Given the description of an element on the screen output the (x, y) to click on. 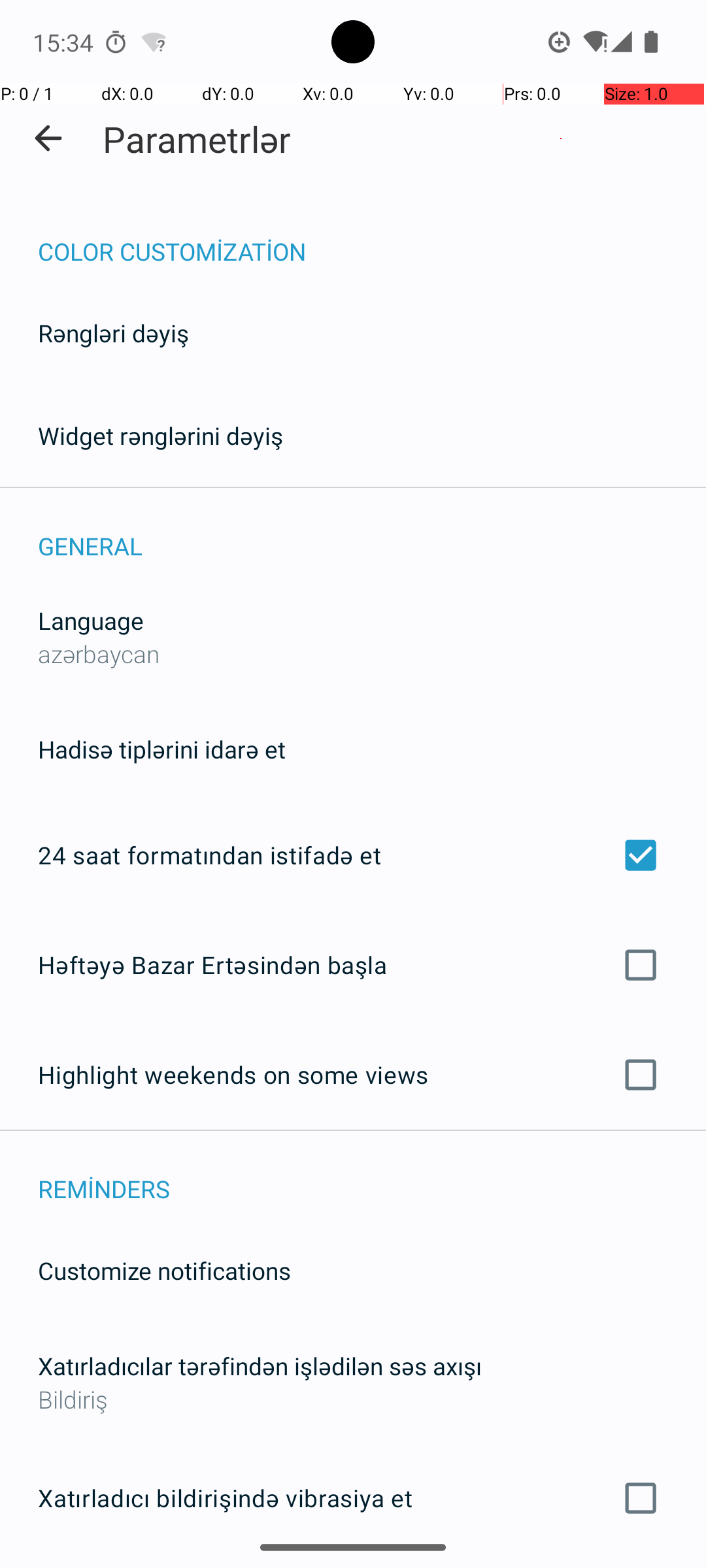
Parametrlər Element type: android.widget.TextView (196, 138)
COLOR CUSTOMİZATİON Element type: android.widget.TextView (371, 237)
REMİNDERS Element type: android.widget.TextView (371, 1174)
Rəngləri dəyiş Element type: android.widget.TextView (112, 332)
Widget rənglərini dəyiş Element type: android.widget.TextView (160, 435)
azərbaycan Element type: android.widget.TextView (98, 653)
Hadisə tiplərini idarə et Element type: android.widget.TextView (161, 748)
24 saat formatından istifadə et Element type: android.widget.CheckBox (352, 855)
Həftəyə Bazar Ertəsindən başla Element type: android.widget.CheckBox (352, 964)
Xatırladıcılar tərəfindən işlədilən səs axışı Element type: android.widget.TextView (259, 1365)
Bildiriş Element type: android.widget.TextView (352, 1398)
Xatırladıcı bildirişində vibrasiya et Element type: android.widget.CheckBox (352, 1497)
Buraxılana qədər xatırladıcıları təkrarla Element type: android.widget.CheckBox (352, 1567)
